Given the description of an element on the screen output the (x, y) to click on. 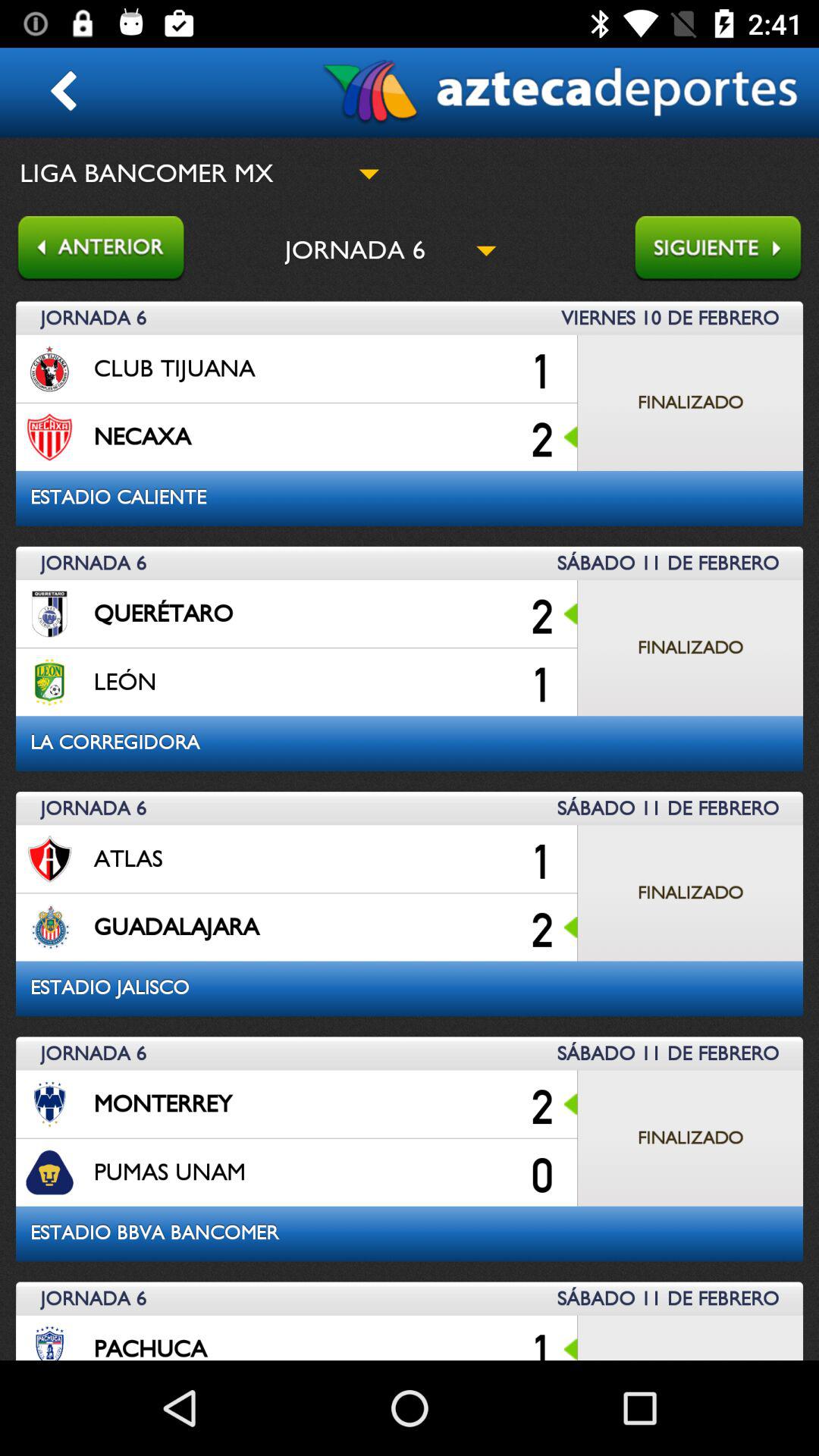
back to previous screen (92, 249)
